Given the description of an element on the screen output the (x, y) to click on. 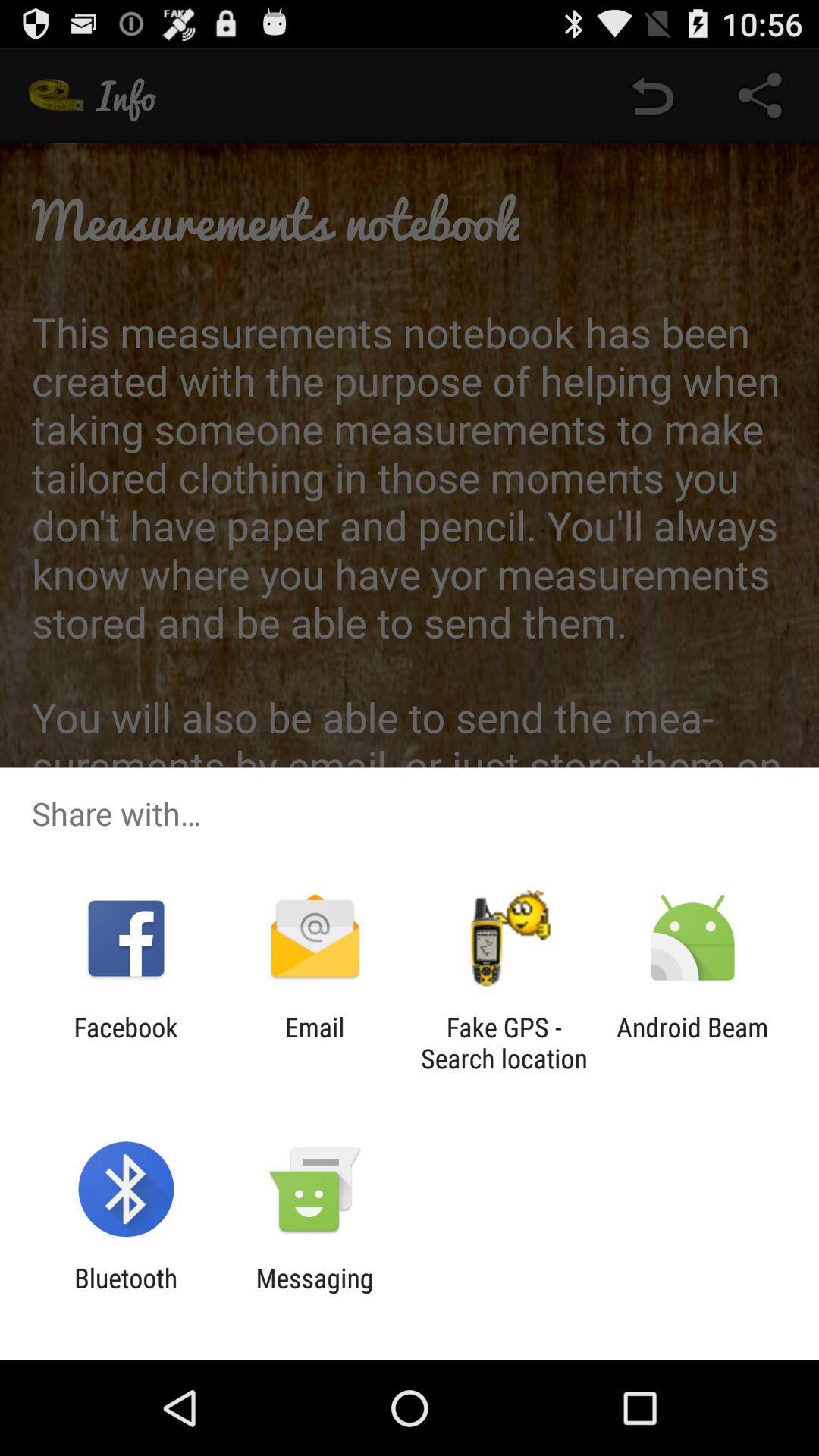
choose the item next to the android beam app (503, 1042)
